Given the description of an element on the screen output the (x, y) to click on. 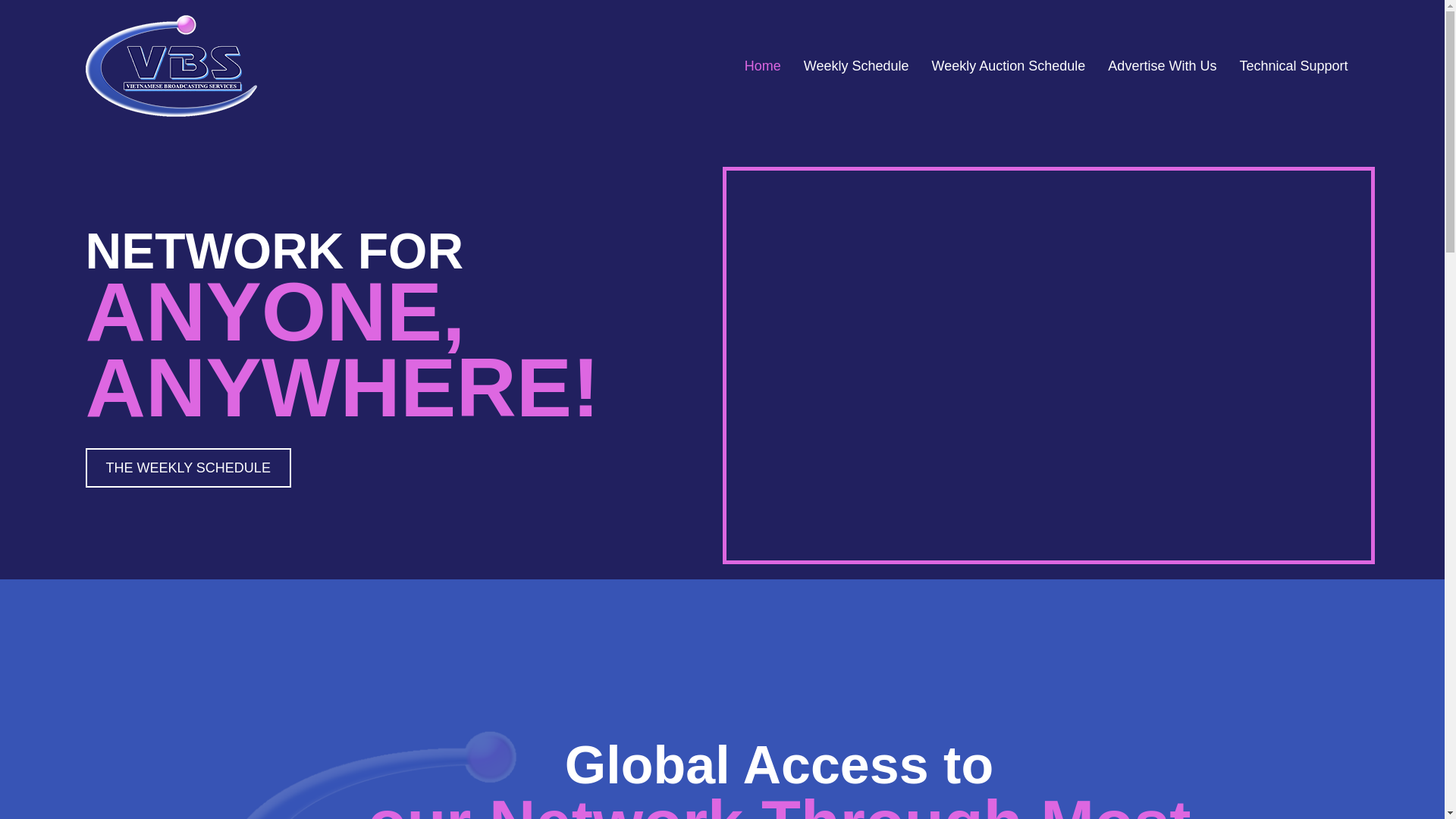
Home (762, 65)
Weekly Auction Schedule (1008, 65)
VBS TELEVISION (170, 66)
THE WEEKLY SCHEDULE (186, 467)
Advertise With Us (1162, 65)
Technical Support (1293, 65)
Weekly Schedule (856, 65)
